Given the description of an element on the screen output the (x, y) to click on. 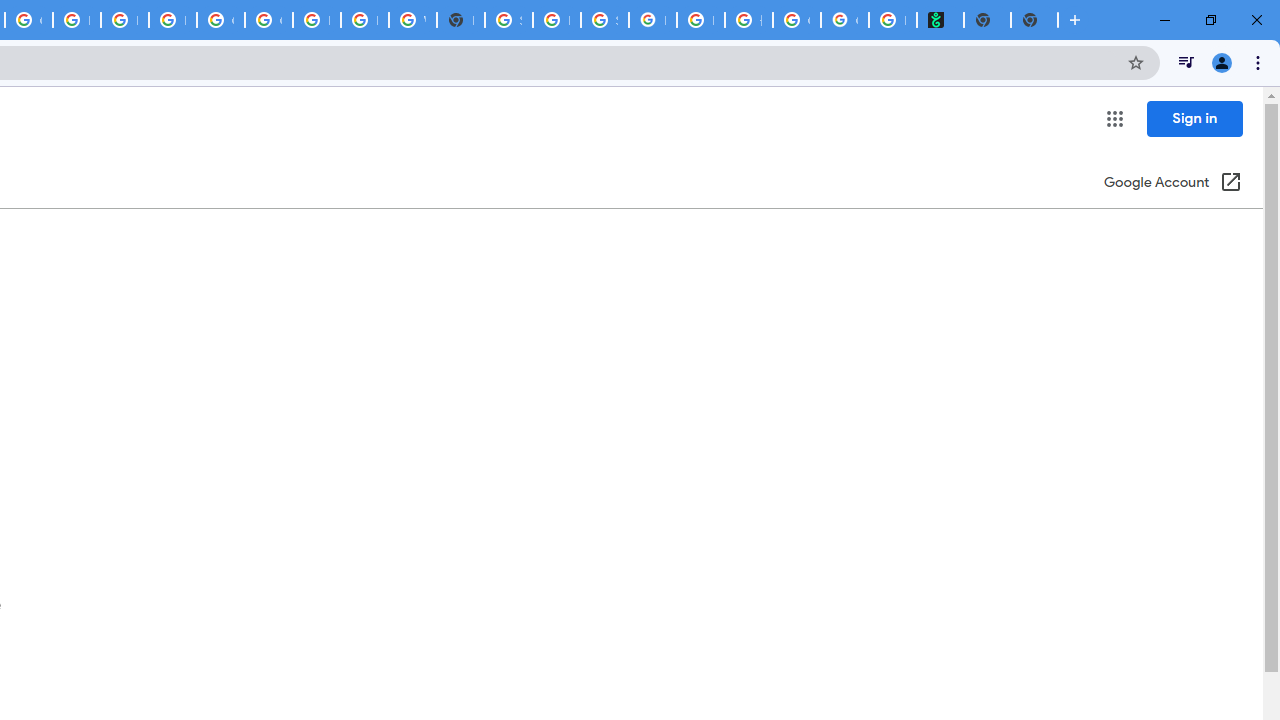
Browse Chrome as a guest - Computer - Google Chrome Help (316, 20)
Sign in (1194, 118)
Google Cloud Platform (220, 20)
Browse Chrome as a guest - Computer - Google Chrome Help (76, 20)
